Given the description of an element on the screen output the (x, y) to click on. 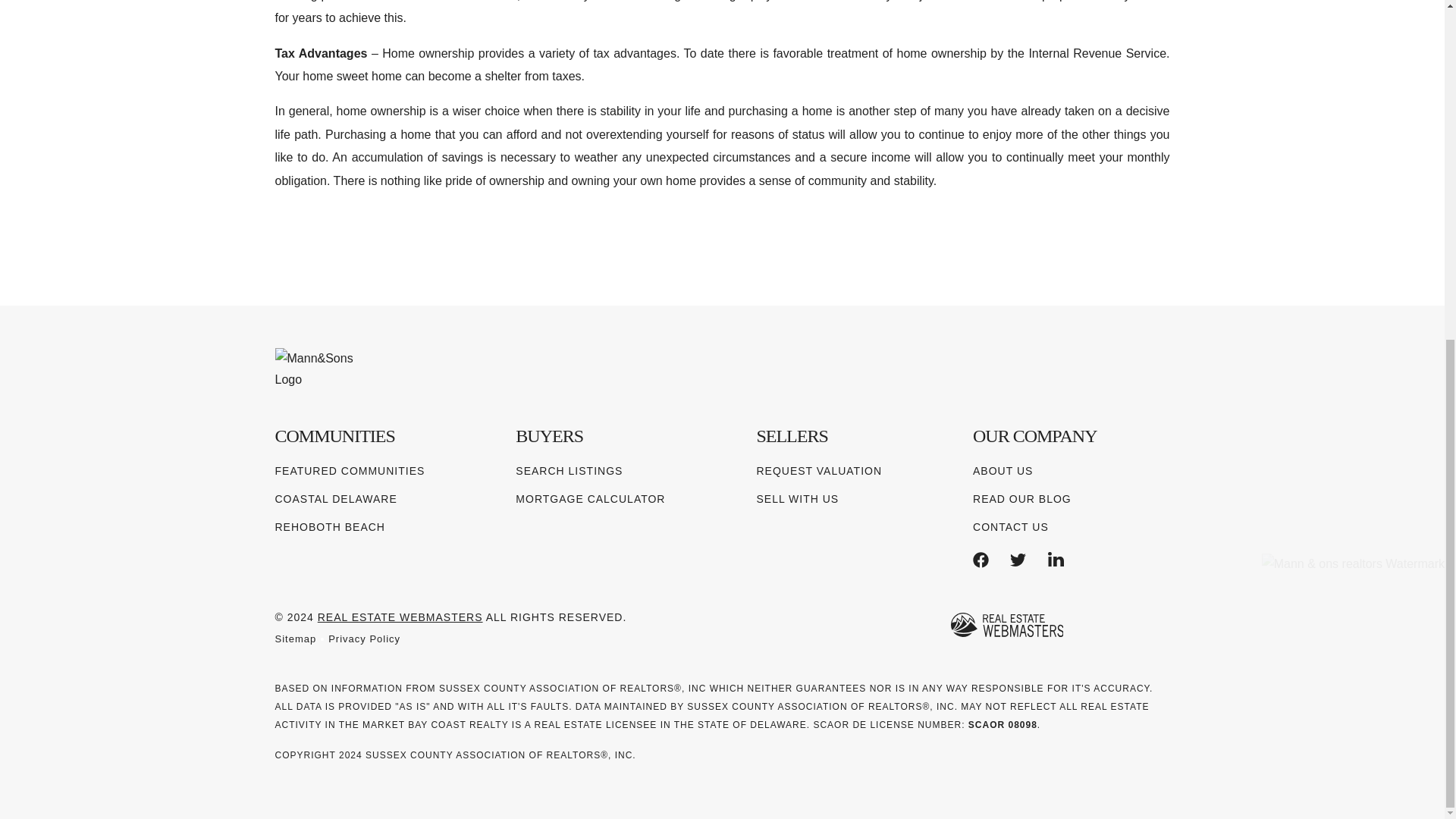
TWITTER (1018, 560)
FACEBOOK (980, 560)
LINKEDIN (1056, 560)
